Given the description of an element on the screen output the (x, y) to click on. 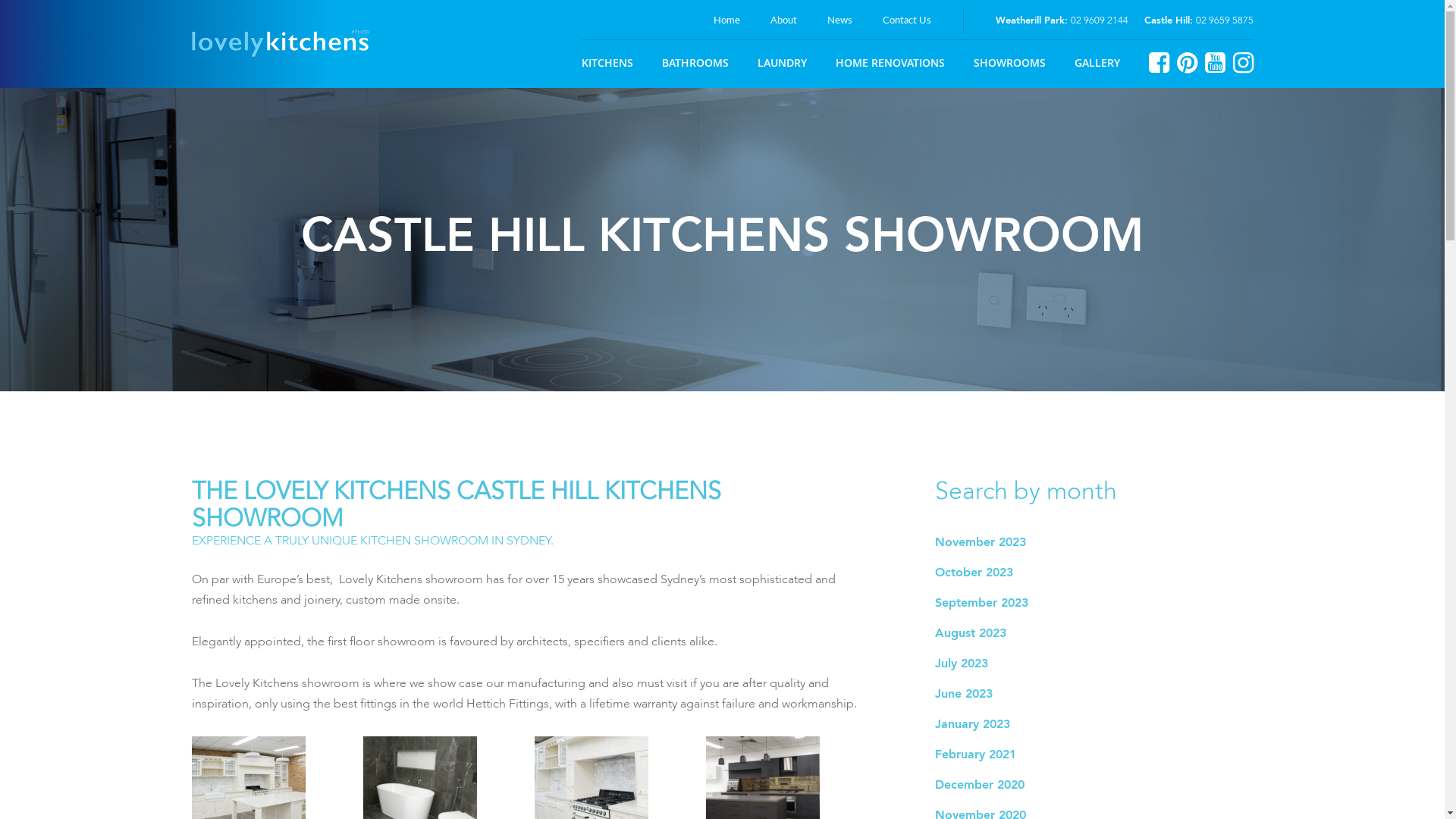
January 2023 Element type: text (971, 724)
August 2023 Element type: text (969, 633)
Contact Us Element type: text (906, 19)
June 2023 Element type: text (962, 694)
Home Element type: text (726, 19)
LAUNDRY Element type: text (781, 62)
About Element type: text (783, 19)
HOME RENOVATIONS Element type: text (889, 62)
February 2021 Element type: text (974, 755)
September 2023 Element type: text (980, 603)
BATHROOMS Element type: text (694, 62)
News Element type: text (839, 19)
December 2020 Element type: text (978, 785)
July 2023 Element type: text (960, 664)
SHOWROOMS Element type: text (1009, 62)
02 9609 2144 Element type: text (1099, 20)
GALLERY Element type: text (1096, 62)
October 2023 Element type: text (973, 573)
02 9659 5875 Element type: text (1223, 20)
KITCHENS Element type: text (606, 62)
November 2023 Element type: text (979, 542)
